Given the description of an element on the screen output the (x, y) to click on. 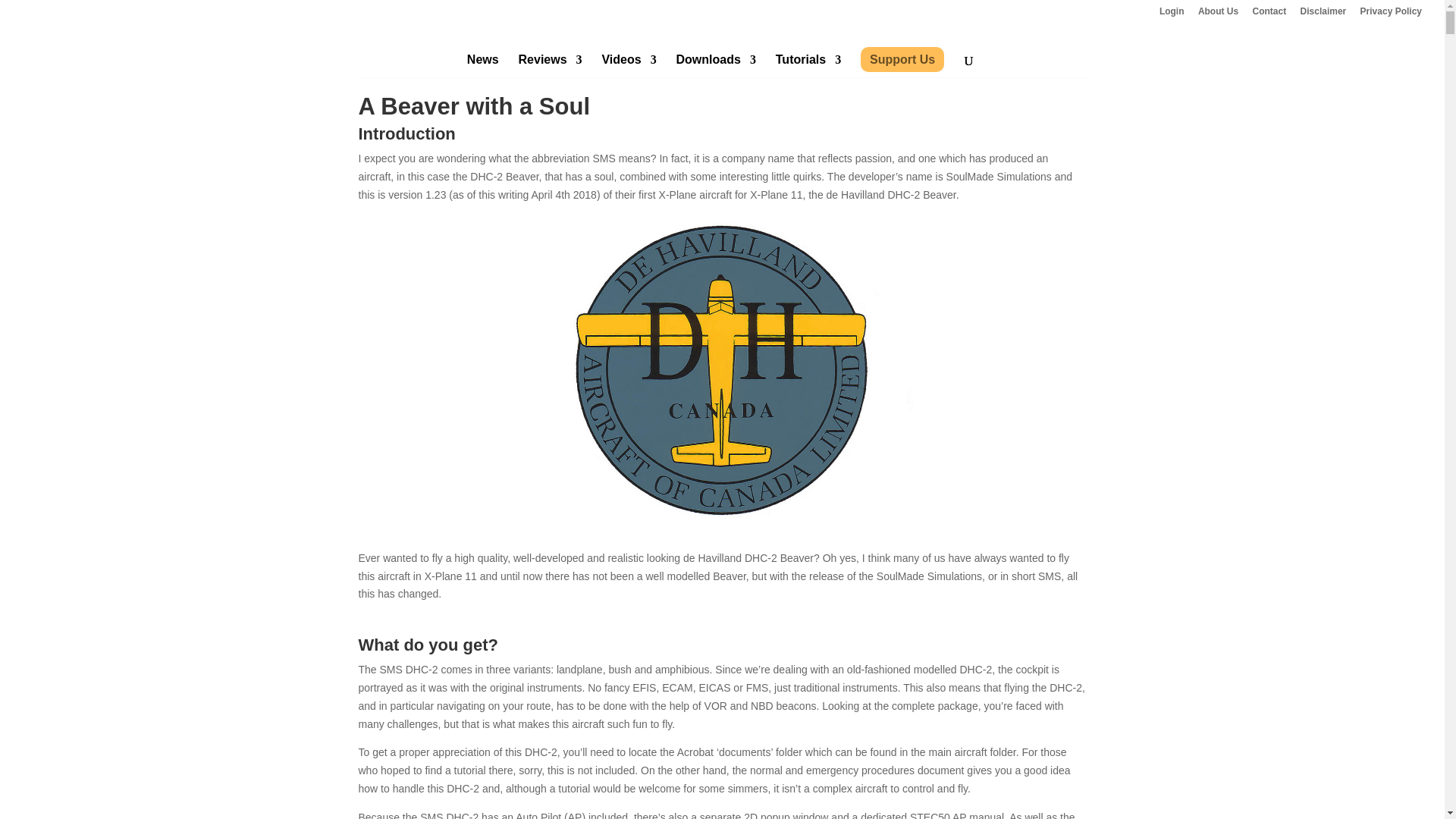
Contact (1269, 14)
Reviews (550, 74)
Privacy Policy (1390, 14)
Videos (628, 74)
Disclaimer (1323, 14)
Login (1171, 14)
About Us (1218, 14)
Downloads (716, 74)
